Given the description of an element on the screen output the (x, y) to click on. 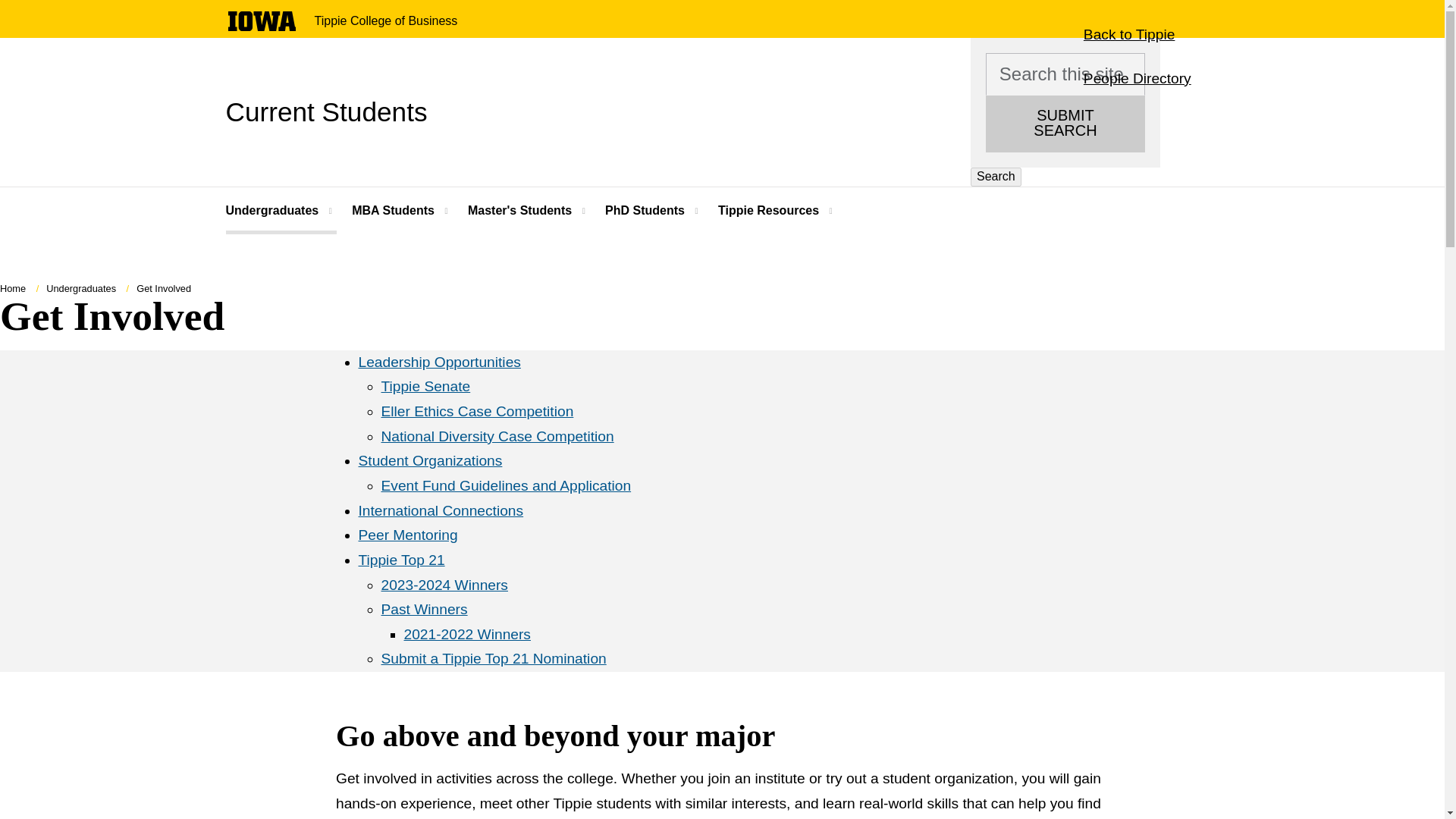
Search (996, 176)
Skip to main content (7, 7)
Tippie College of Business (385, 20)
Back to Tippie (1129, 34)
University of Iowa (261, 21)
People Directory (1137, 78)
MBA Students (394, 210)
Current Students (326, 111)
SUBMIT SEARCH (1064, 123)
Undergraduates (281, 210)
